Given the description of an element on the screen output the (x, y) to click on. 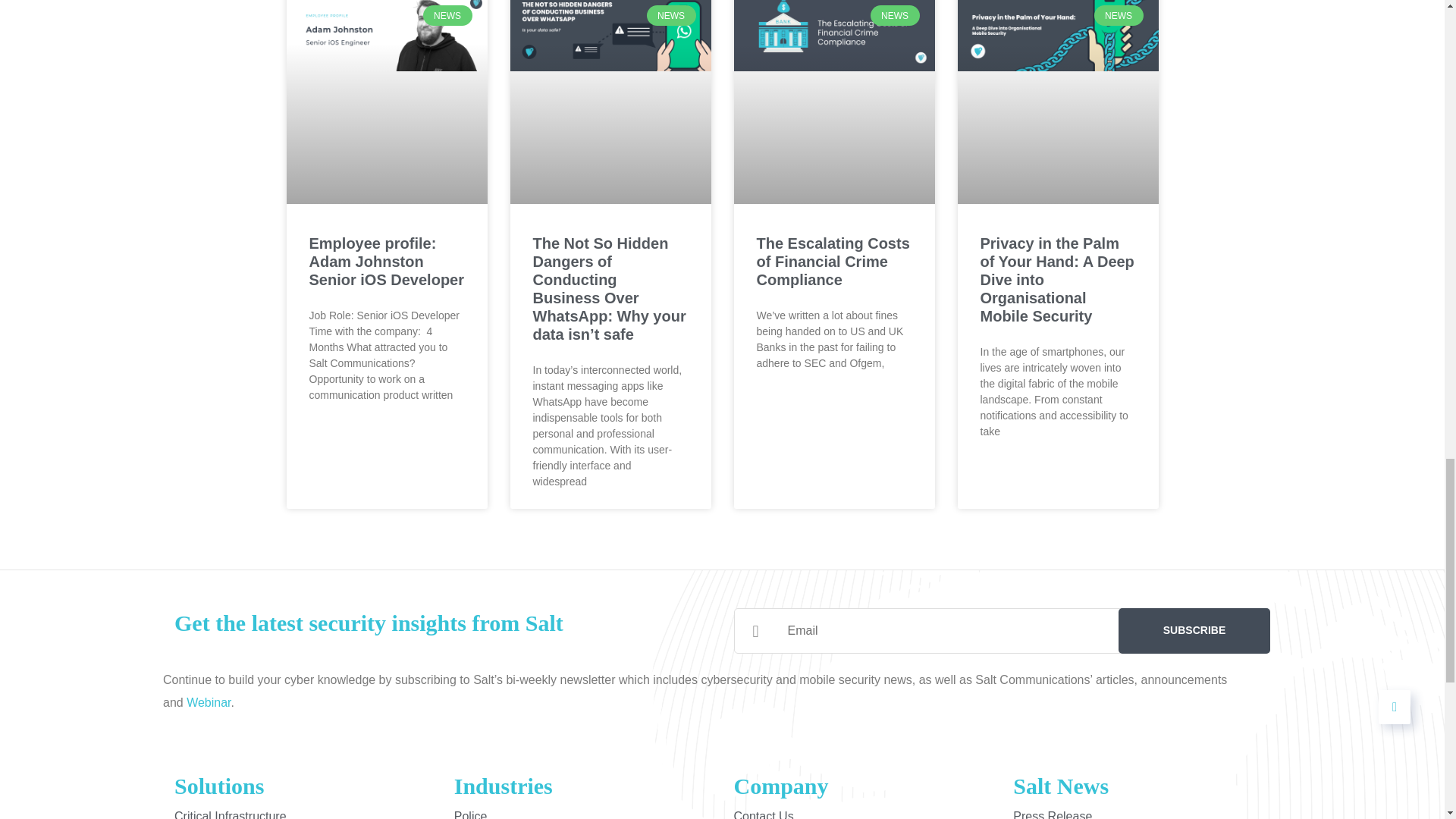
Subscribe (1193, 630)
